Given the description of an element on the screen output the (x, y) to click on. 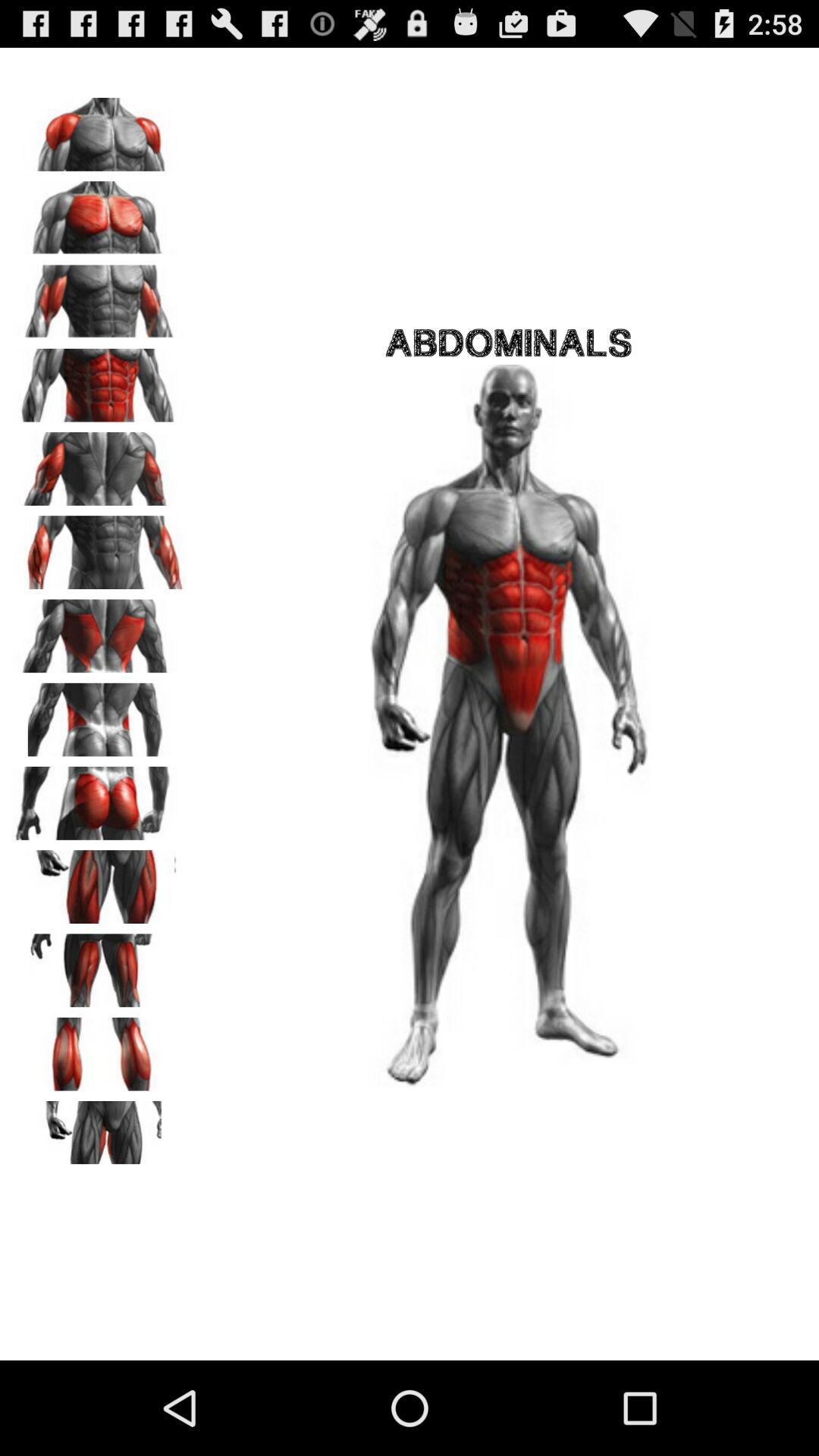
select body part (99, 714)
